Given the description of an element on the screen output the (x, y) to click on. 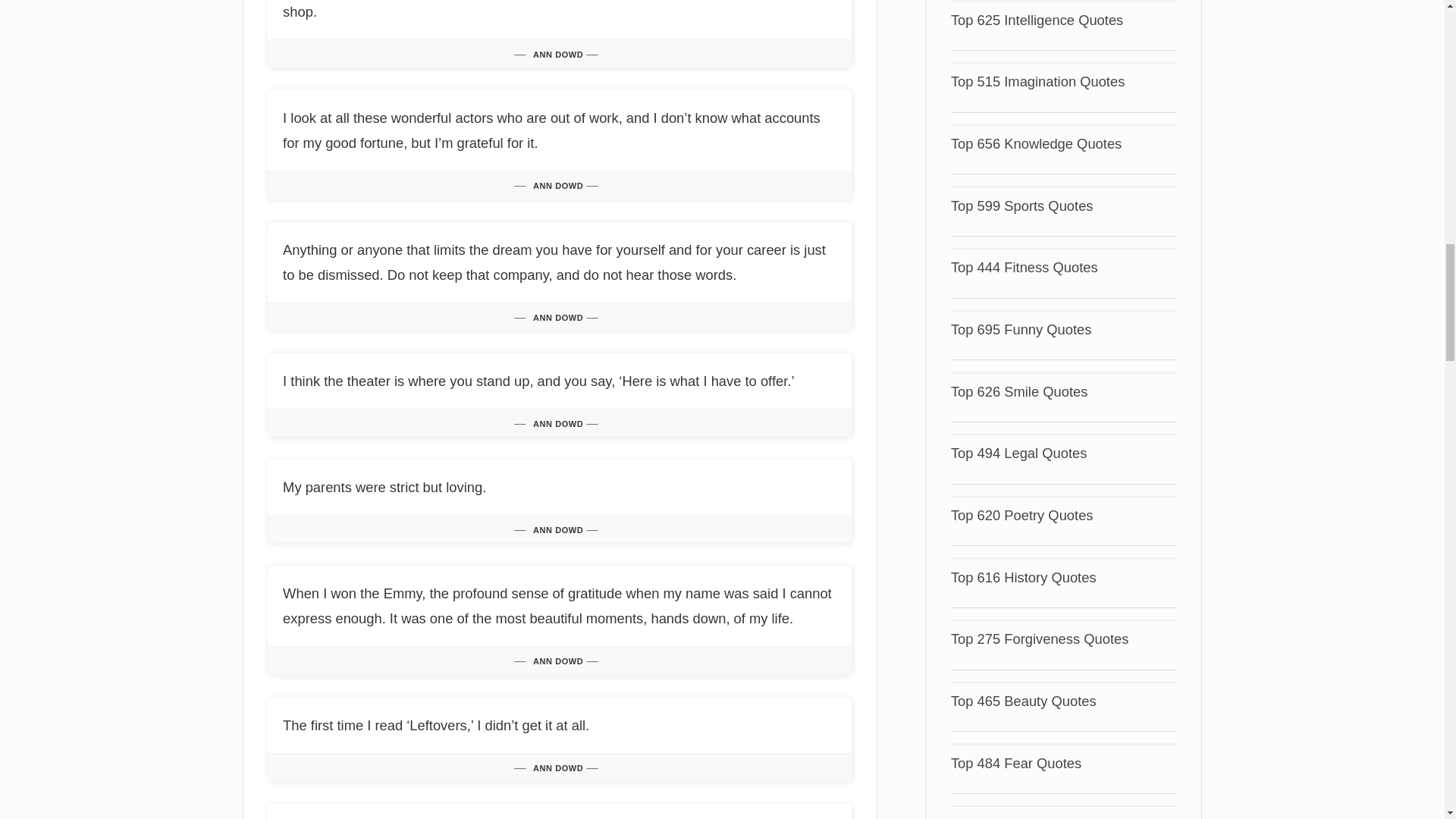
Top 625 Intelligence Quotes (1036, 19)
Top 620 Poetry Quotes (1021, 514)
Top 494 Legal Quotes (1018, 453)
Top 616 History Quotes (1023, 577)
Top 625 Intelligence Quotes (1036, 19)
Top 695 Funny Quotes (1021, 329)
Top 656 Knowledge Quotes (1035, 143)
Top 656 Knowledge Quotes (1035, 143)
Top 599 Sports Quotes (1021, 205)
Top 275 Forgiveness Quotes (1039, 638)
Top 444 Fitness Quotes (1023, 267)
Top 515 Imagination Quotes (1037, 81)
